Given the description of an element on the screen output the (x, y) to click on. 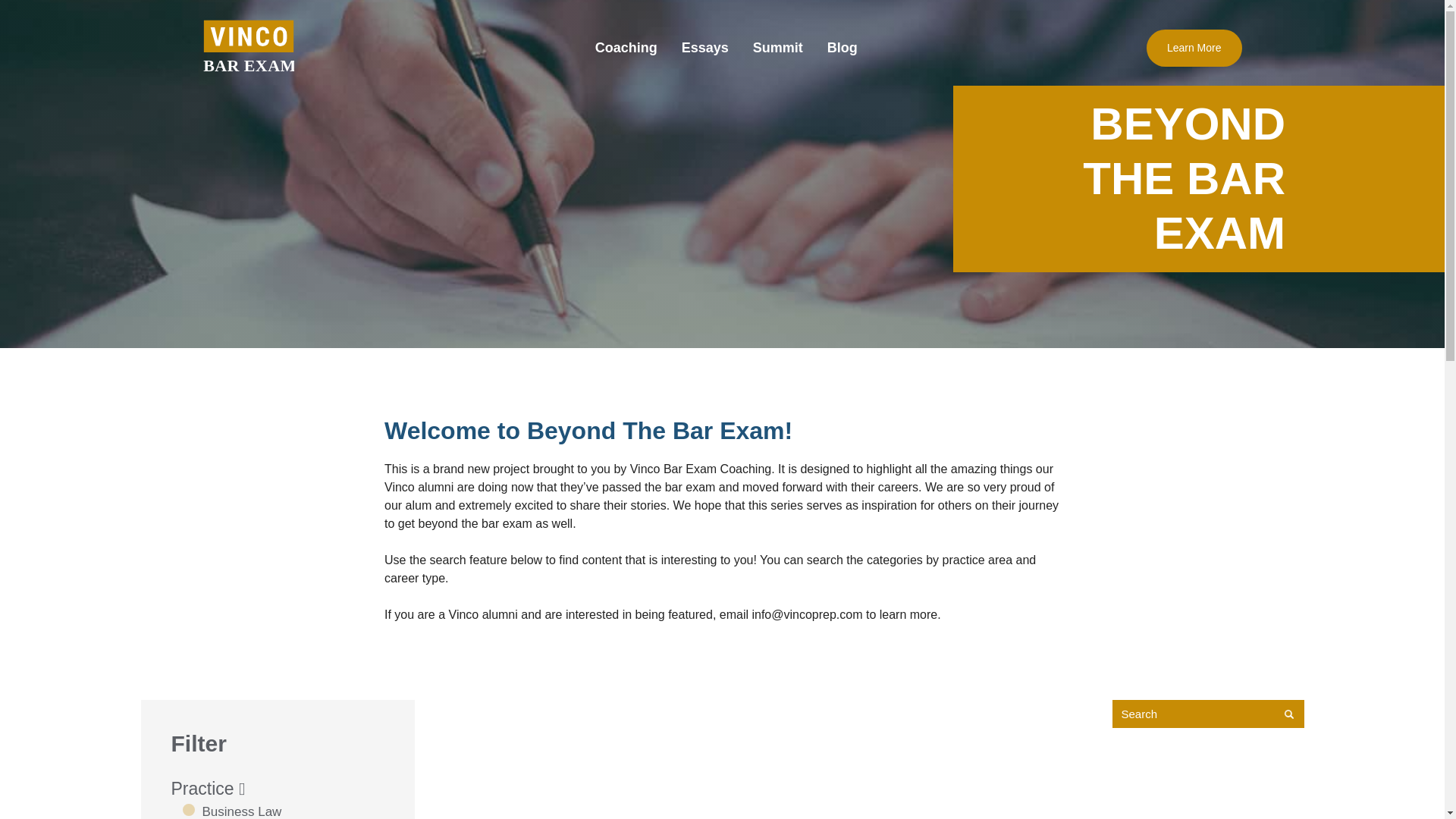
Business Law (231, 810)
Blog (842, 47)
Summit (777, 47)
BAR EXAM (248, 48)
Practice (208, 788)
Vinco Prep (248, 48)
Essays (705, 47)
Learn More (1194, 47)
BAR EXAM (248, 48)
Coaching (626, 47)
